Given the description of an element on the screen output the (x, y) to click on. 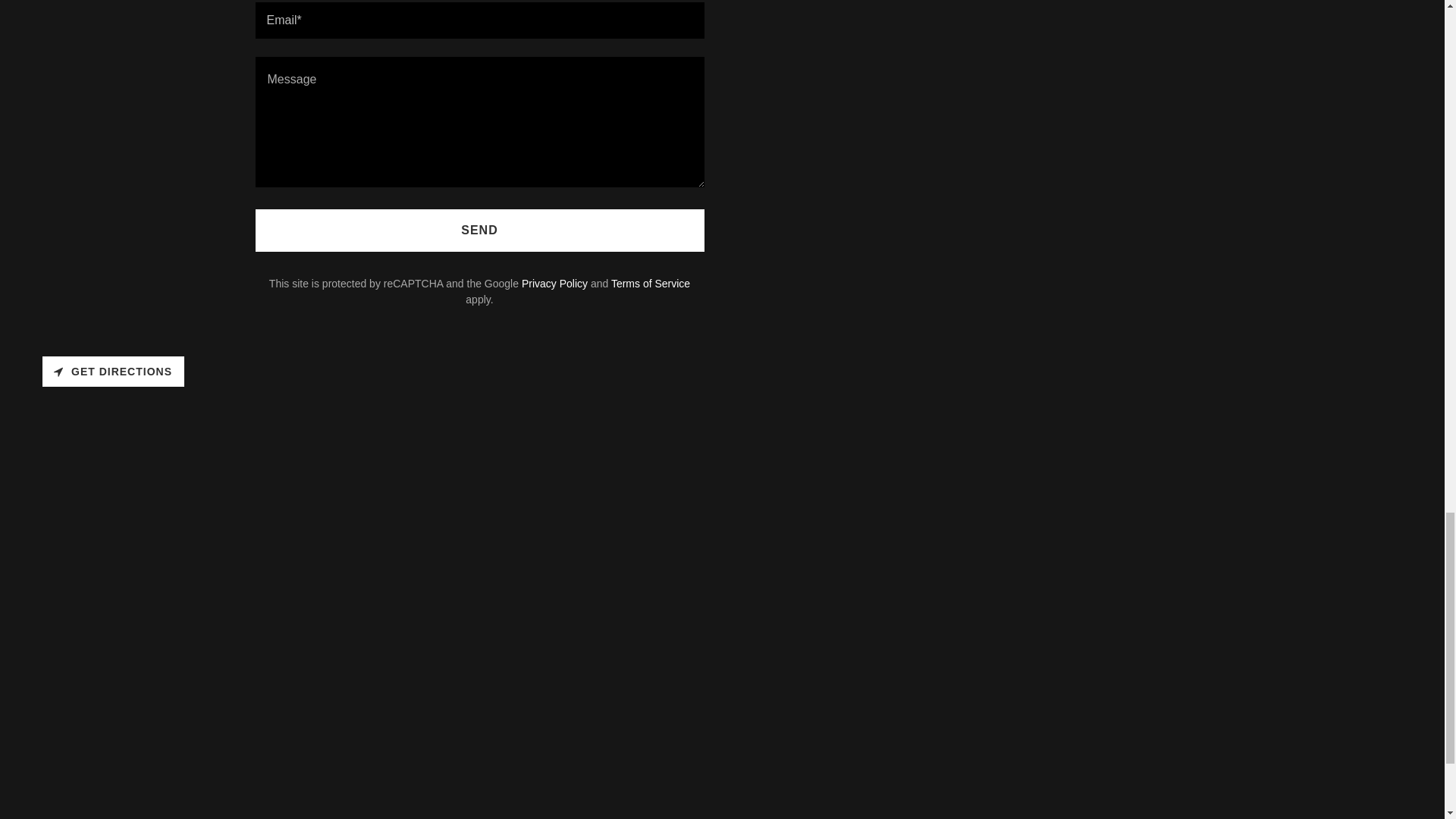
GET DIRECTIONS (113, 371)
Terms of Service (650, 283)
SEND (478, 230)
Privacy Policy (554, 283)
